Given the description of an element on the screen output the (x, y) to click on. 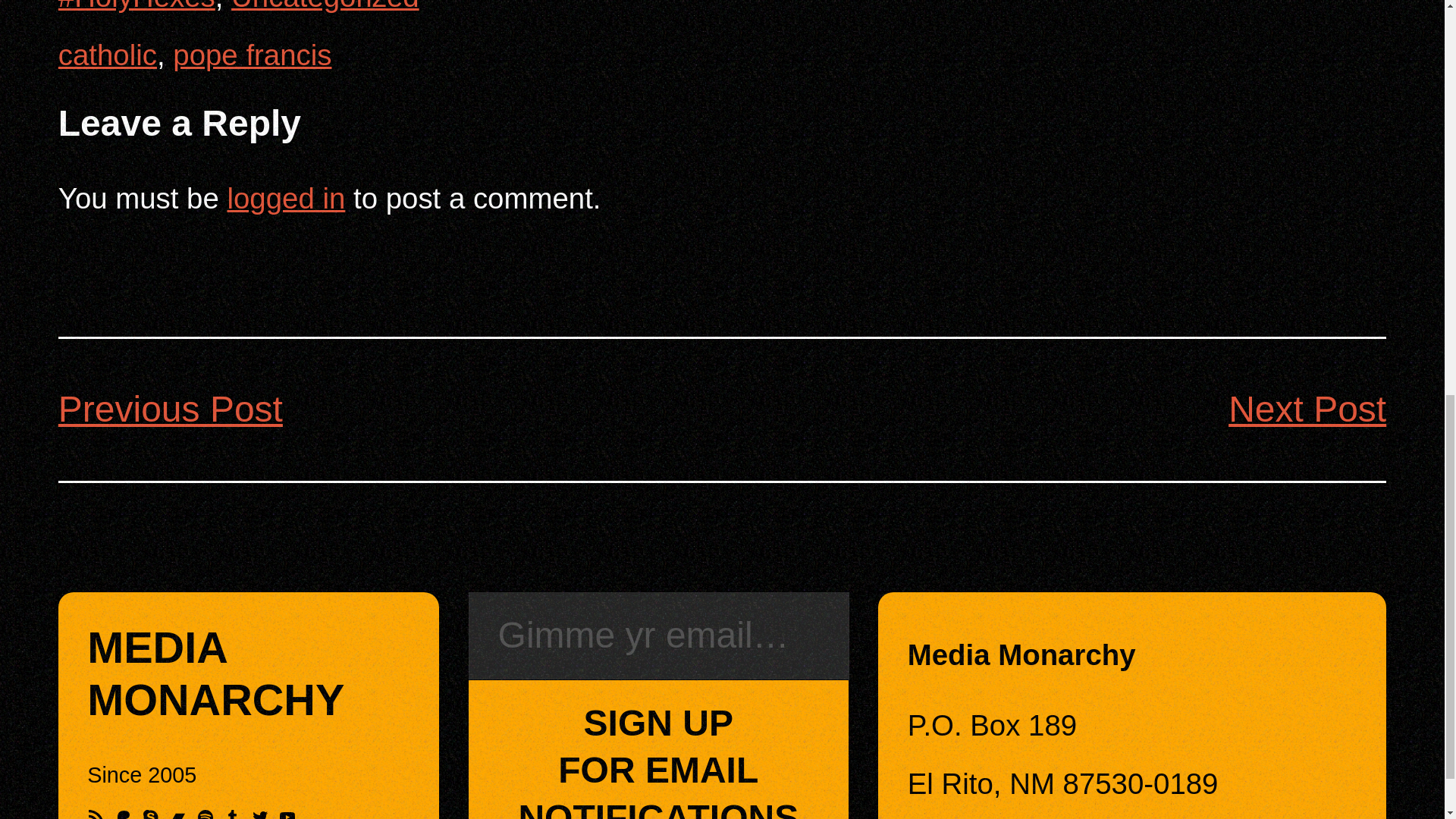
Tumblr (232, 813)
Twitter (259, 813)
Skype (150, 813)
Please fill in this field. (658, 635)
Spotify (205, 813)
Uncategorized (325, 6)
catholic (658, 749)
pope francis (107, 54)
YouTube (252, 54)
logged in (287, 813)
MEDIA MONARCHY (286, 197)
Bandcamp (215, 673)
Previous Post (177, 813)
Next Post (170, 409)
